Given the description of an element on the screen output the (x, y) to click on. 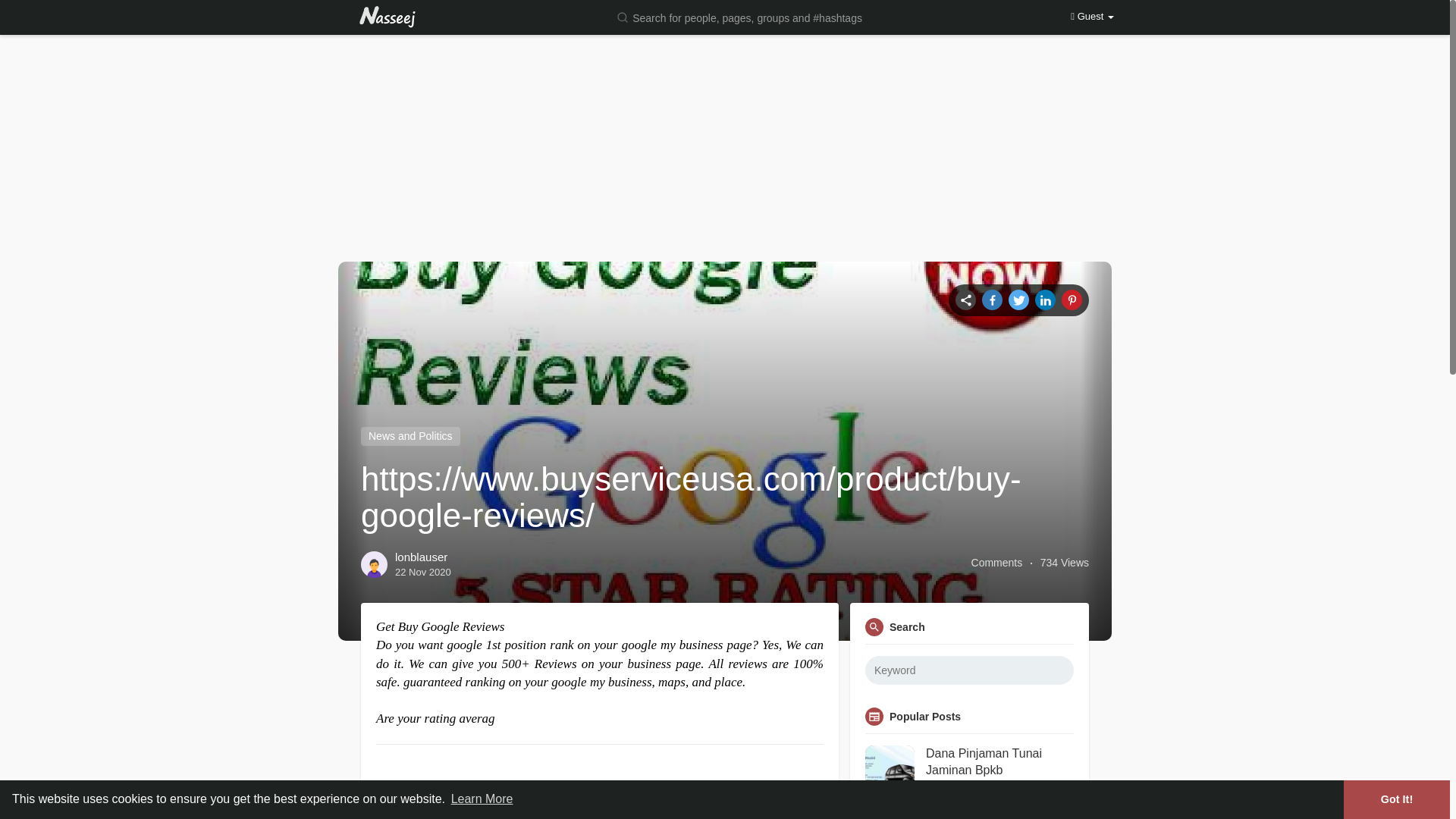
News and Politics (410, 435)
Pinterest (1071, 299)
Comments (997, 563)
Guest (1091, 17)
Facebook (991, 299)
Twitter (1018, 299)
mandiripinjamandana (982, 787)
Dana Pinjaman Tunai Jaminan Bpkb (1000, 762)
Get Buy Google Reviews (528, 799)
Timeline (964, 299)
Learn More (481, 798)
Linkedin (1045, 299)
lonblauser (420, 556)
